Given the description of an element on the screen output the (x, y) to click on. 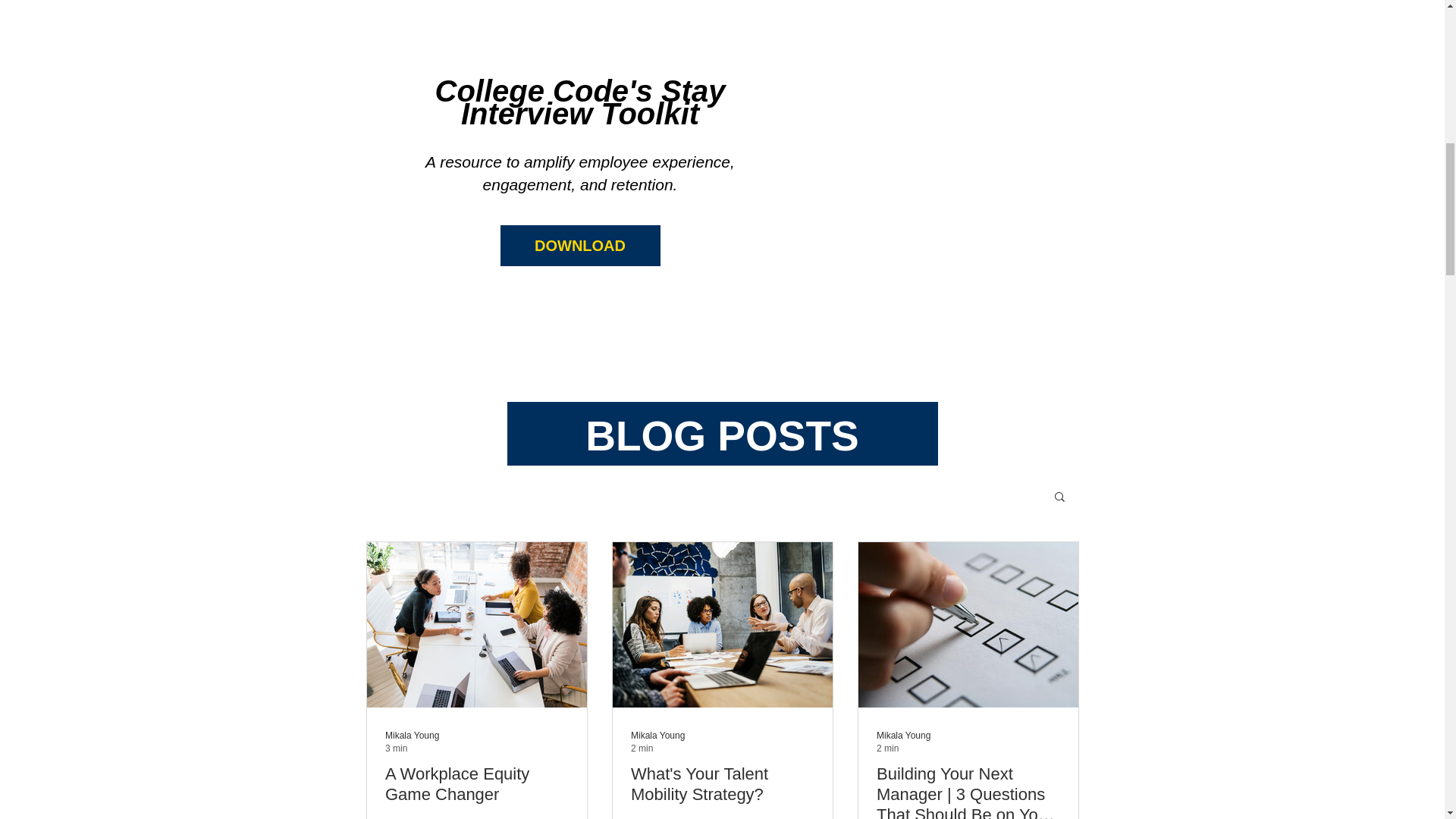
2 min (641, 747)
Mikala Young (657, 735)
Mikala Young (903, 735)
Mikala Young (412, 735)
What's Your Talent Mobility Strategy? (721, 745)
2 min (721, 783)
DOWNLOAD (477, 745)
